Given the description of an element on the screen output the (x, y) to click on. 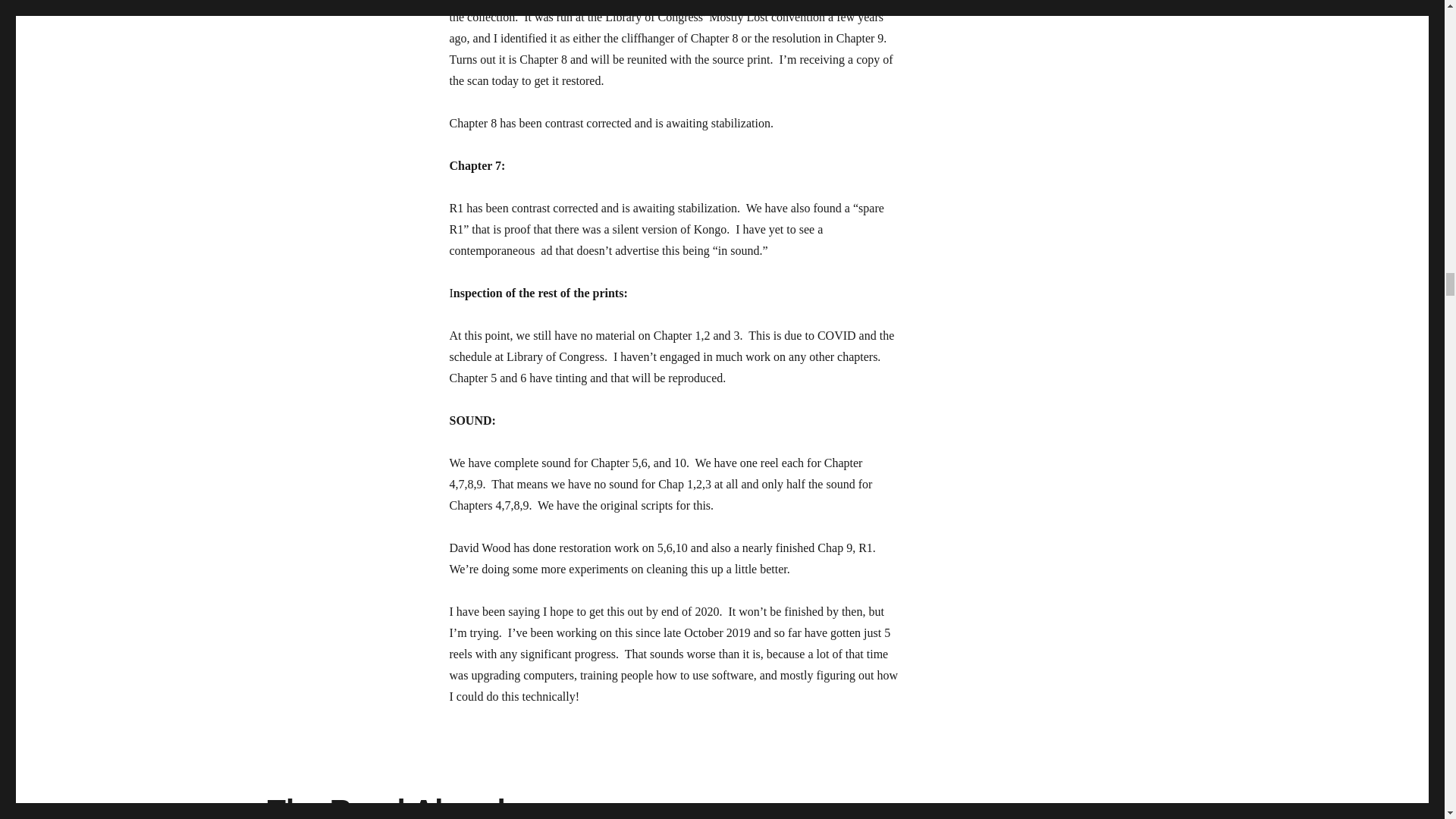
The Road Ahead (385, 806)
